Given the description of an element on the screen output the (x, y) to click on. 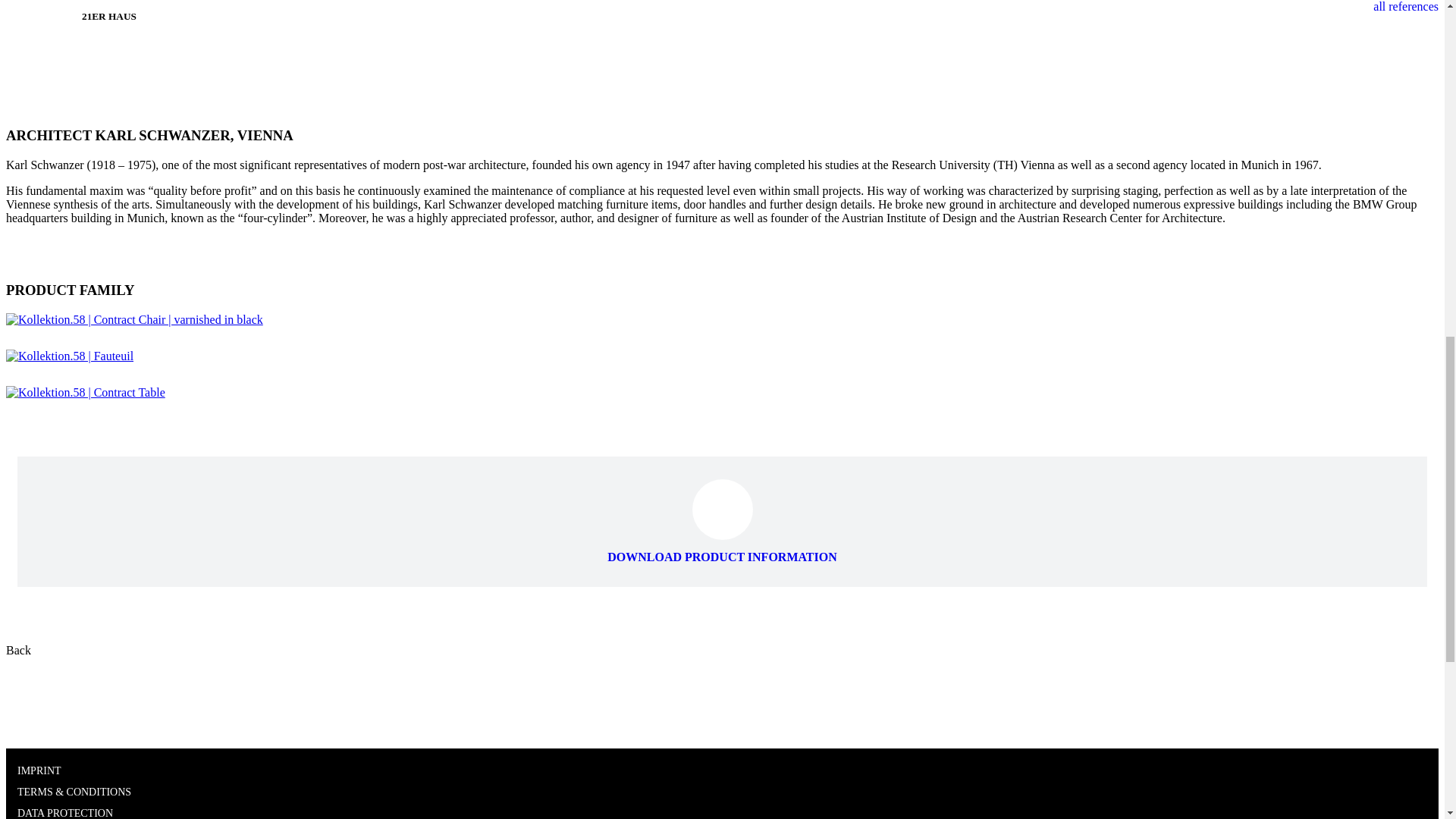
DOWNLOAD PRODUCT INFORMATION (722, 550)
DATA PROTECTION (65, 813)
IMPRINT (39, 770)
Back (17, 649)
